Given the description of an element on the screen output the (x, y) to click on. 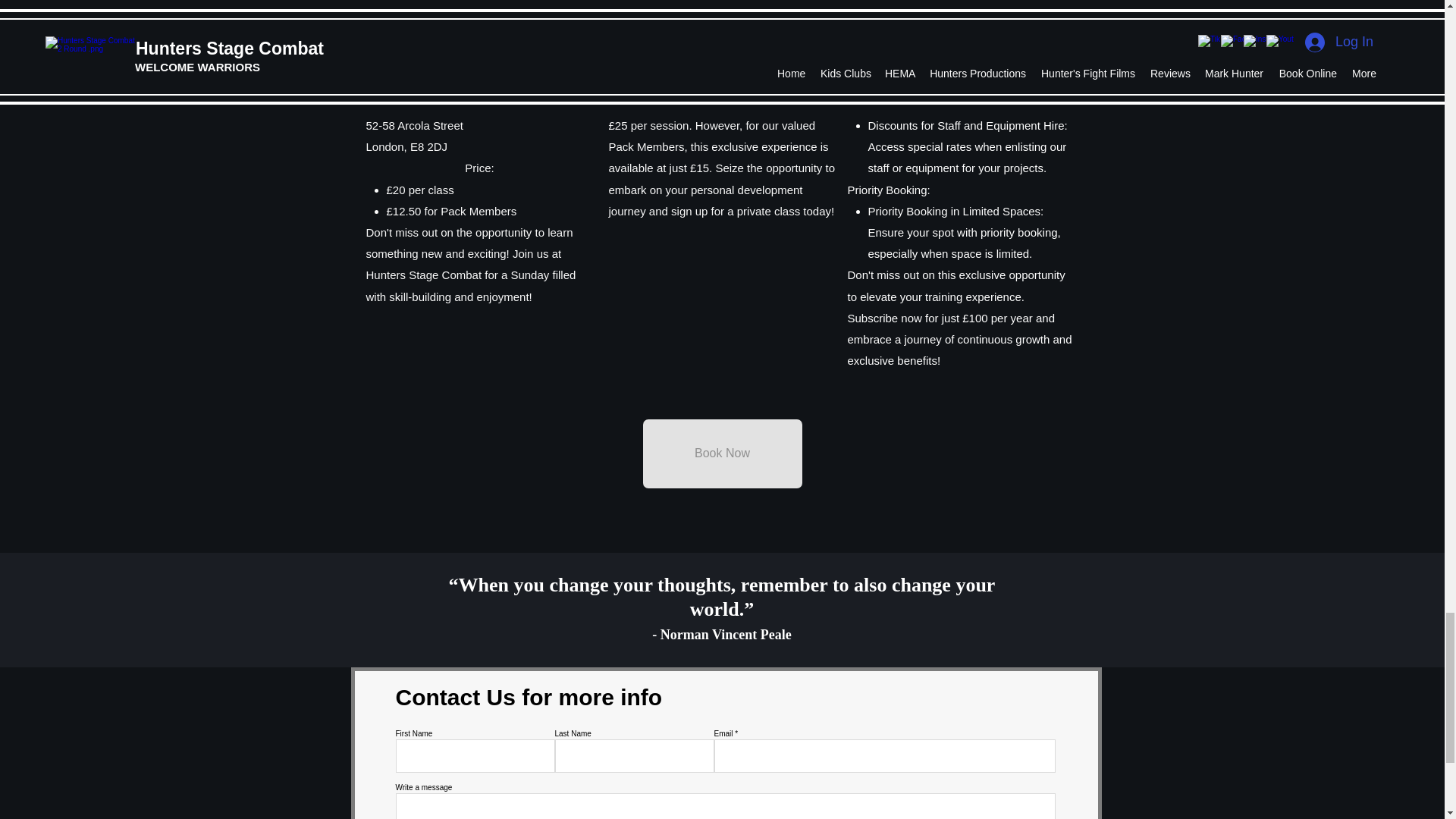
Book Now (722, 453)
